Given the description of an element on the screen output the (x, y) to click on. 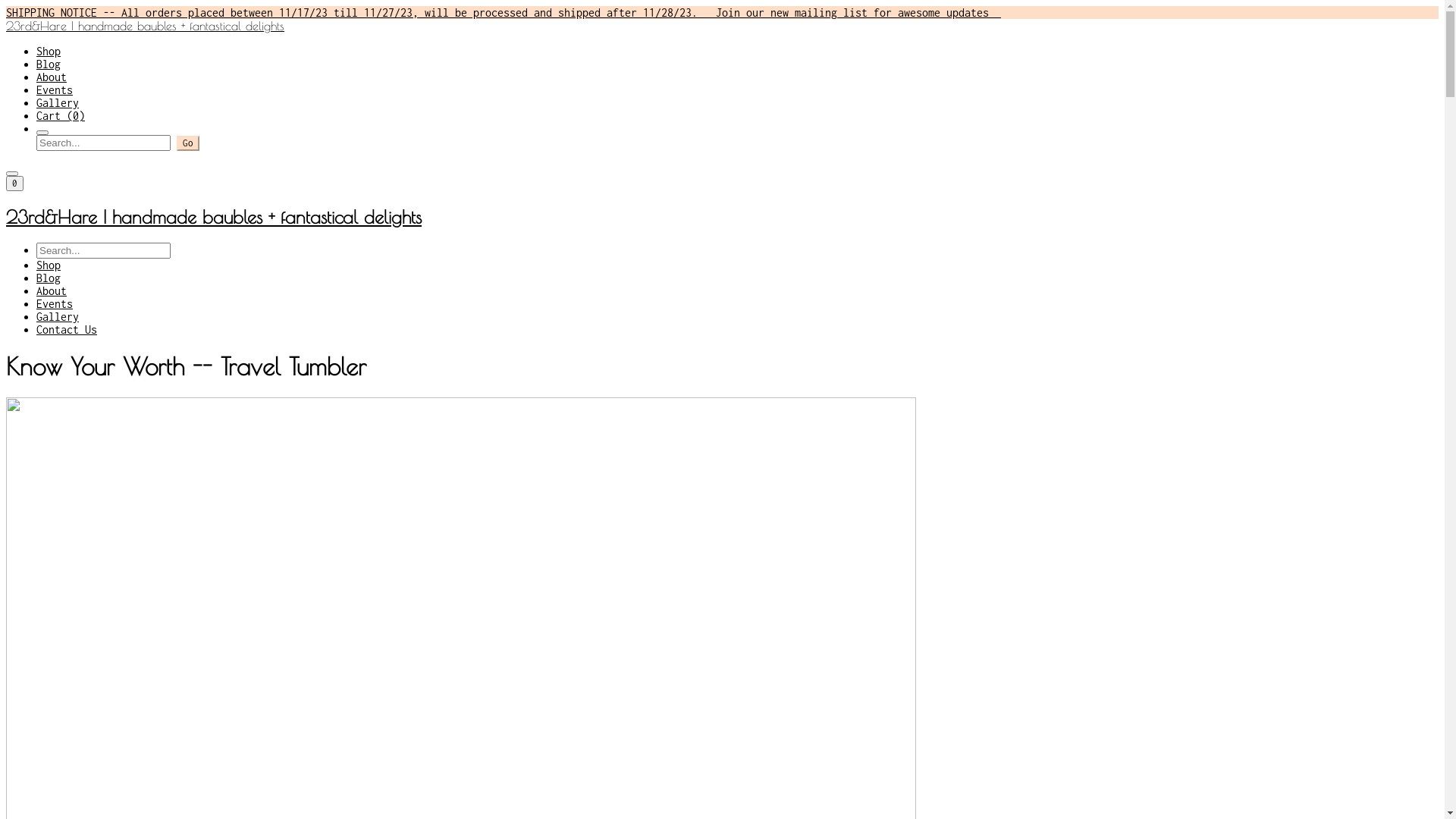
Events Element type: text (54, 89)
23rd&Hare | handmade baubles + fantastical delights Element type: text (722, 25)
Shop Element type: text (48, 264)
Shop Element type: text (48, 50)
Gallery Element type: text (57, 102)
About Element type: text (51, 290)
Gallery Element type: text (57, 316)
About Element type: text (51, 76)
0 Element type: text (14, 183)
Blog Element type: text (48, 277)
Blog Element type: text (48, 63)
Events Element type: text (54, 303)
23rd&Hare | handmade baubles + fantastical delights Element type: text (722, 216)
Cart (0) Element type: text (60, 115)
Go Element type: text (187, 142)
Contact Us Element type: text (66, 329)
